Given the description of an element on the screen output the (x, y) to click on. 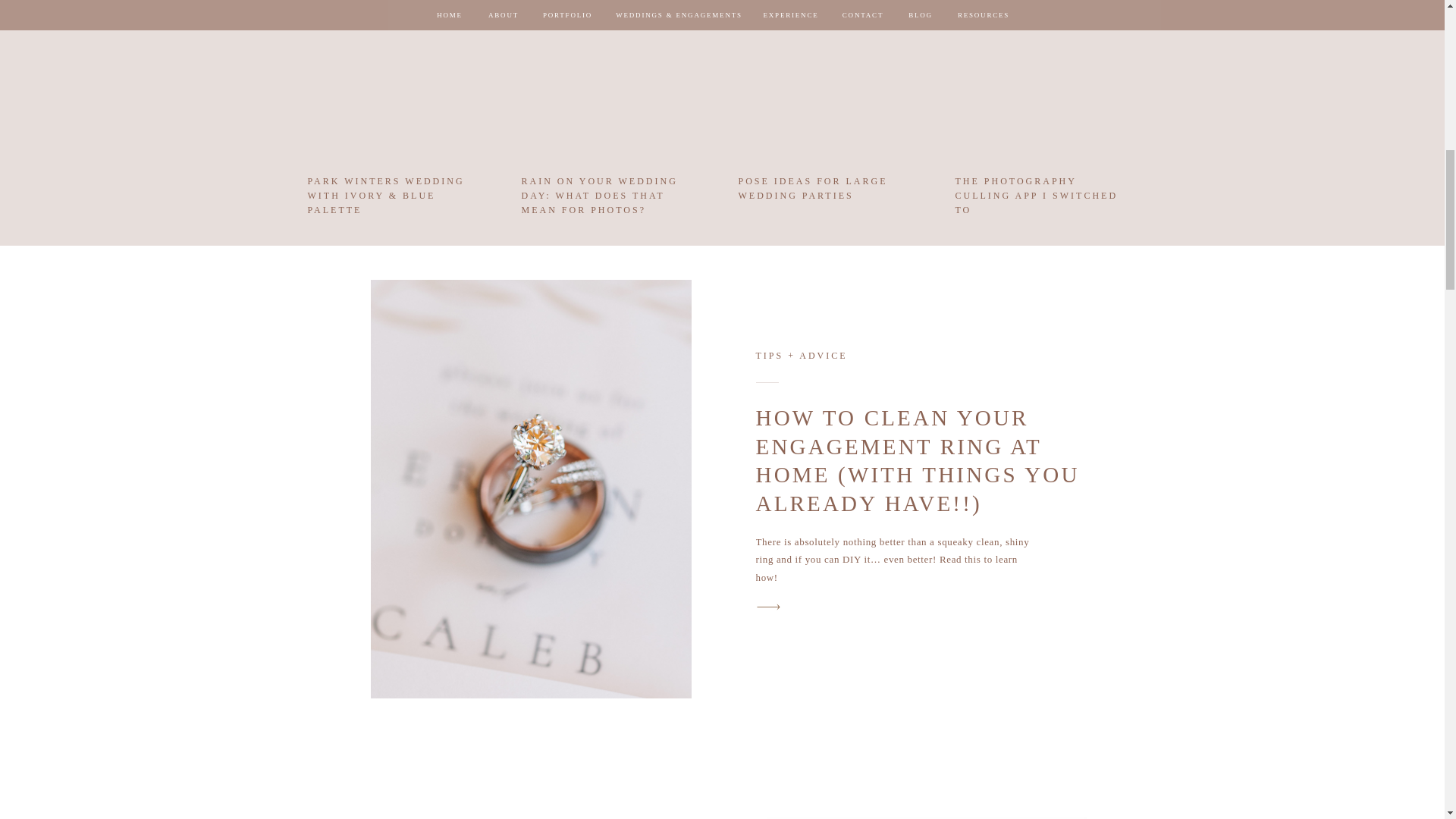
arrow (768, 607)
